Given the description of an element on the screen output the (x, y) to click on. 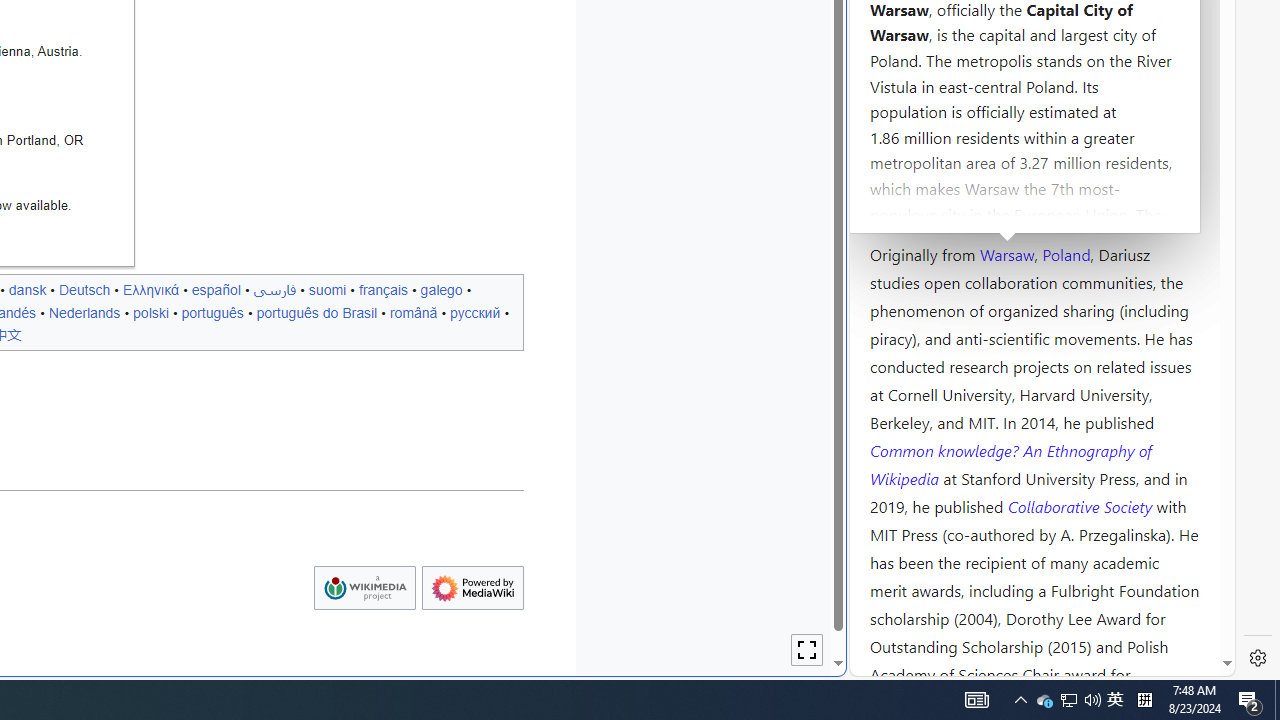
Kozminski University (1034, 136)
Wikimedia Foundation (364, 588)
google_privacy_policy_zh-CN.pdf (687, 482)
Nederlands (84, 312)
AutomationID: footer-copyrightico (364, 588)
MSN (687, 223)
galego (441, 289)
